Given the description of an element on the screen output the (x, y) to click on. 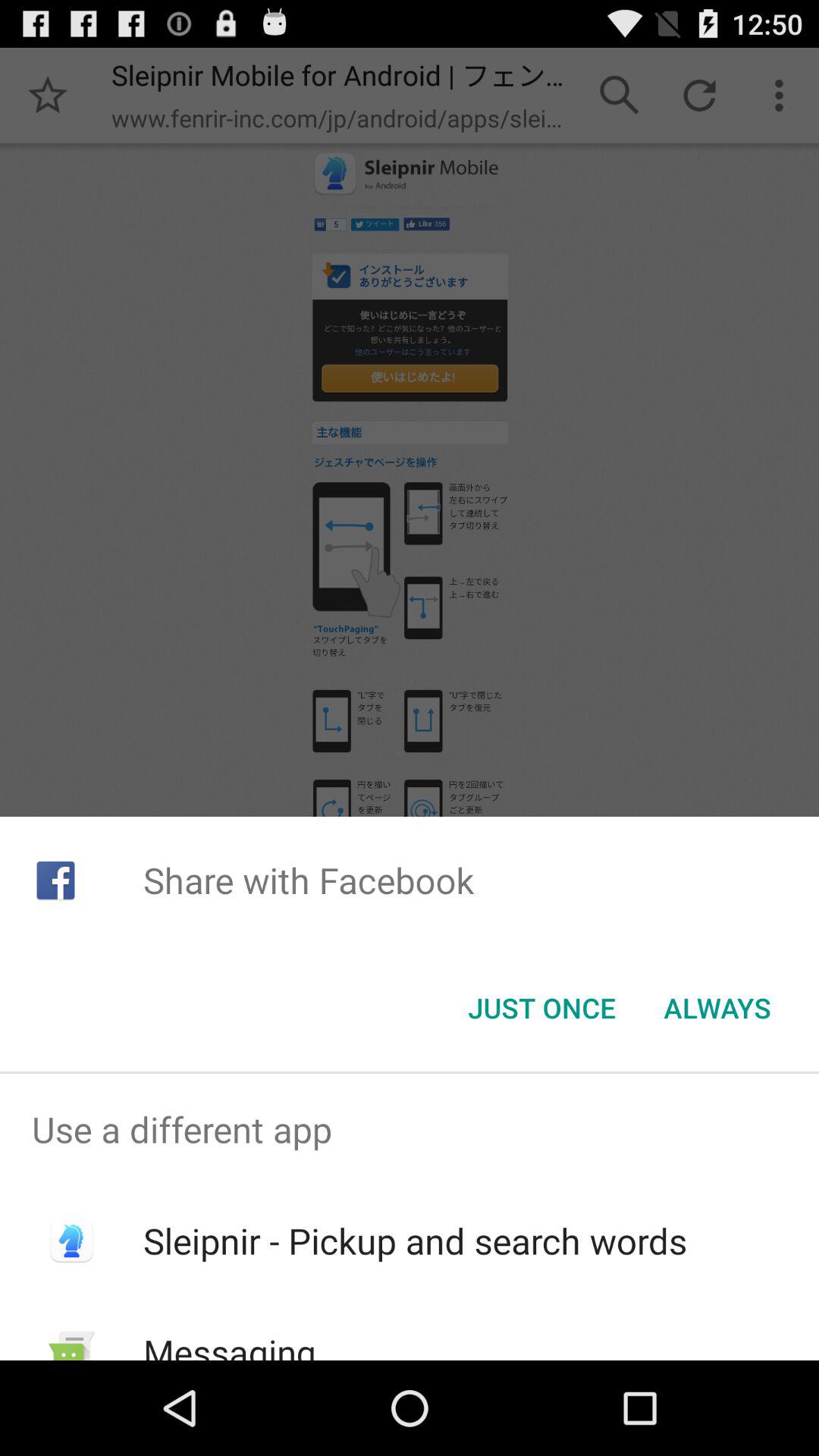
turn off item at the bottom right corner (717, 1007)
